Given the description of an element on the screen output the (x, y) to click on. 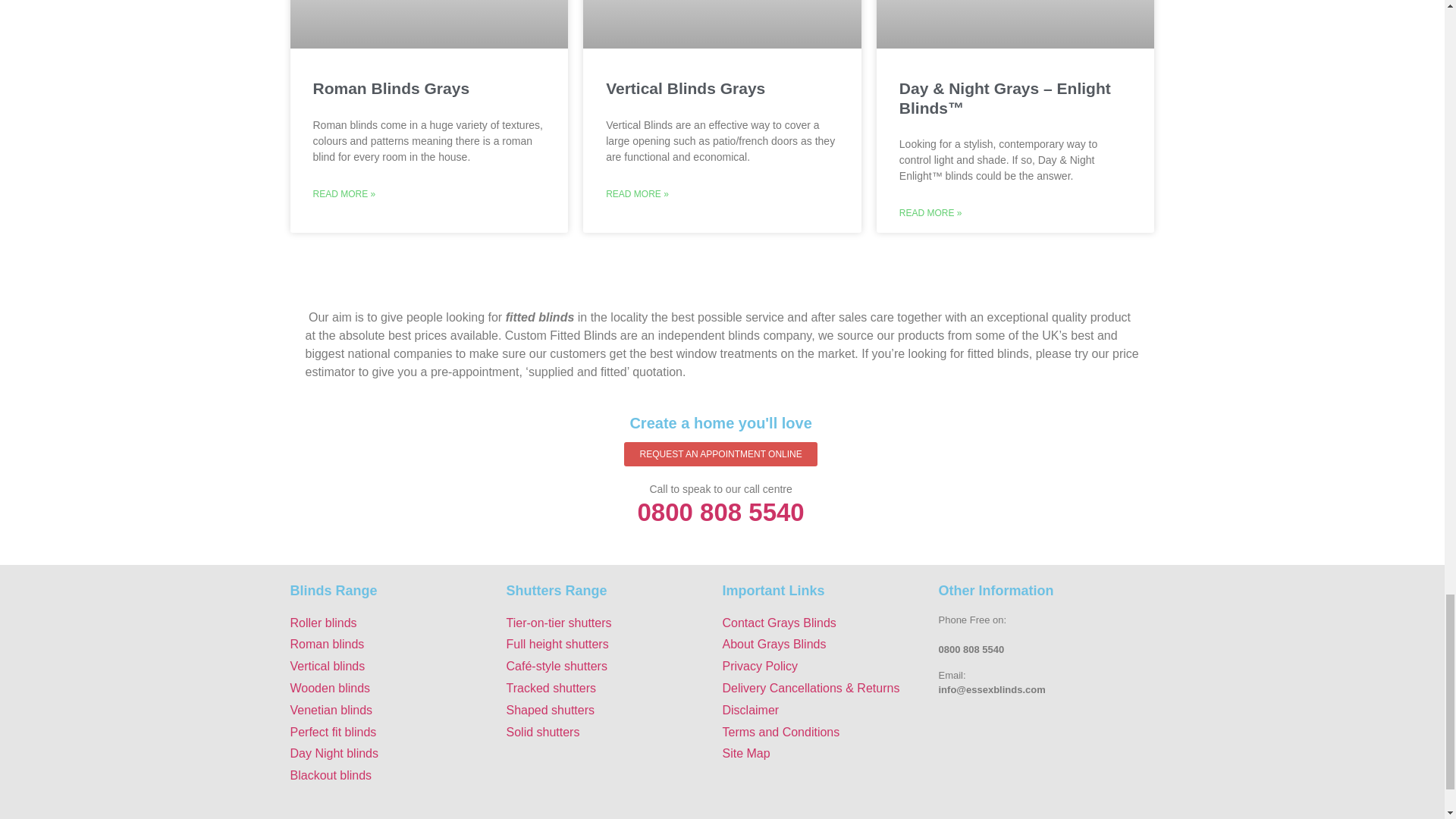
facebook1 (992, 767)
instagram (1100, 767)
